Given the description of an element on the screen output the (x, y) to click on. 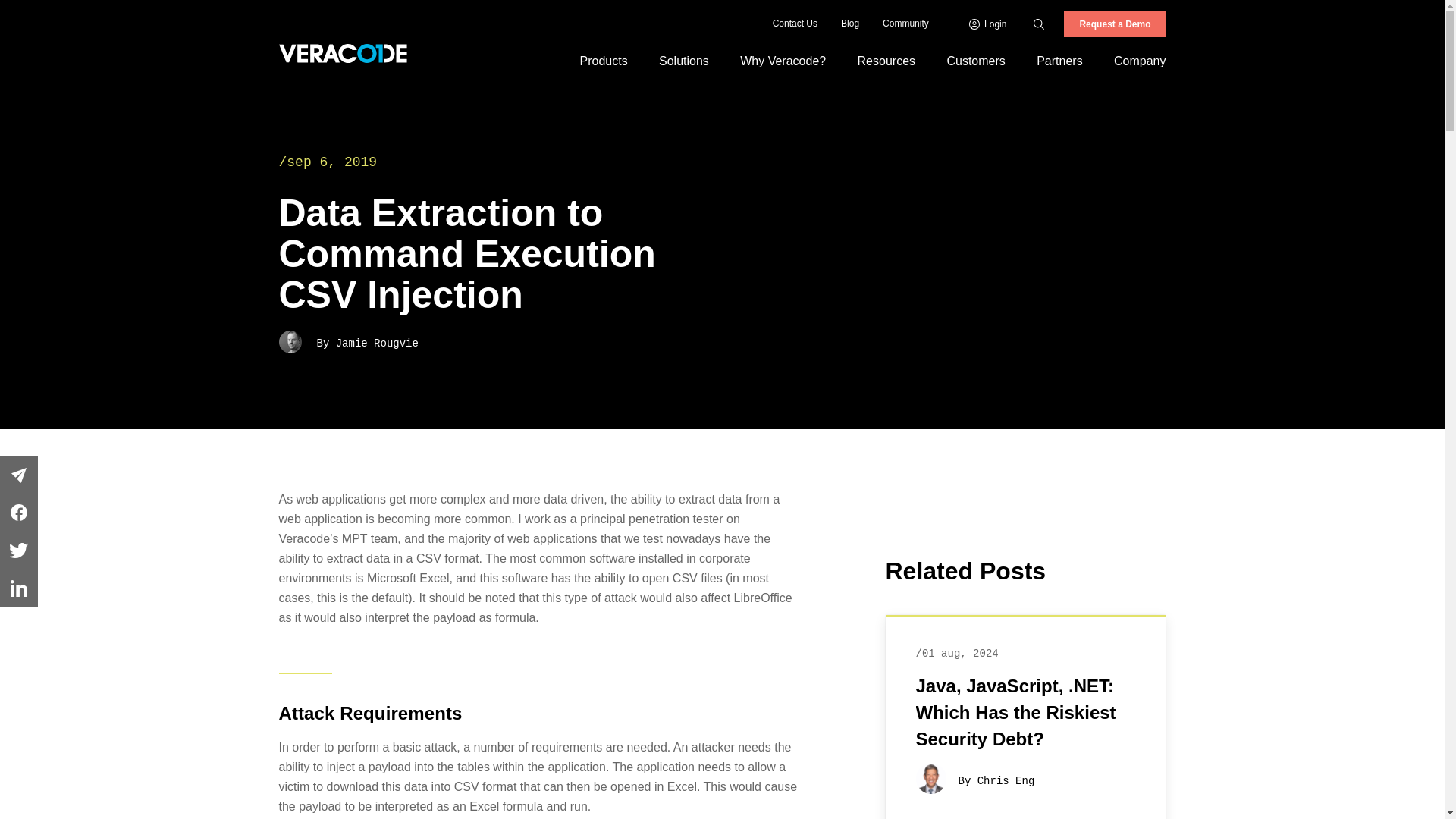
Enter the terms you wish to search for. (1055, 24)
Solutions (683, 61)
Veracode (343, 53)
Login (988, 23)
Why Veracode? (783, 61)
Contact Us (794, 23)
Community (905, 23)
Request a Demo (1115, 23)
Products (603, 61)
